Given the description of an element on the screen output the (x, y) to click on. 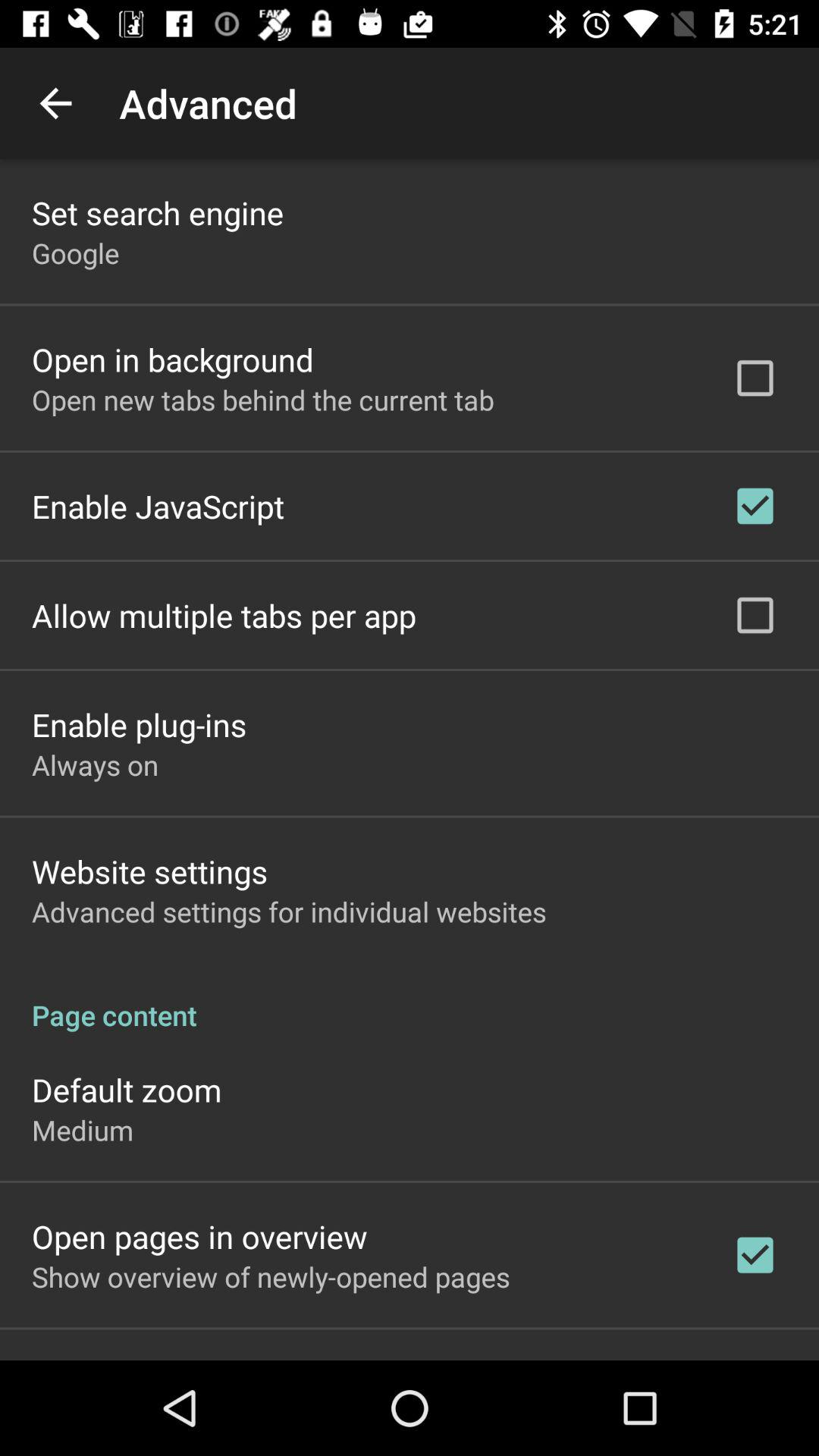
launch item below page content (126, 1089)
